Given the description of an element on the screen output the (x, y) to click on. 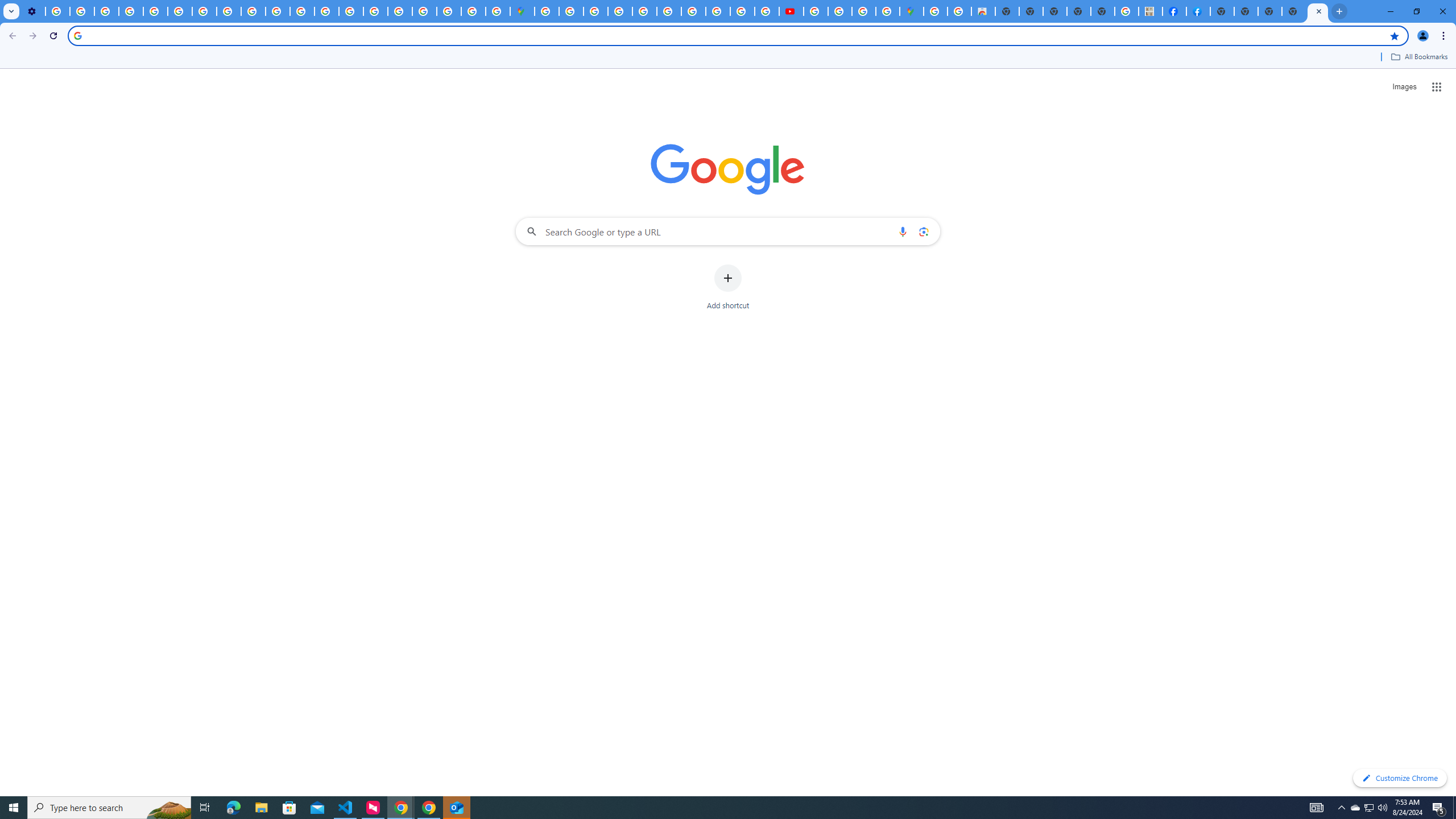
Privacy Help Center - Policies Help (717, 11)
Miley Cyrus | Facebook (1174, 11)
Learn how to find your photos - Google Photos Help (82, 11)
How Chrome protects your passwords - Google Chrome Help (814, 11)
MILEY CYRUS. (1150, 11)
New Tab (1222, 11)
Subscriptions - YouTube (791, 11)
